Given the description of an element on the screen output the (x, y) to click on. 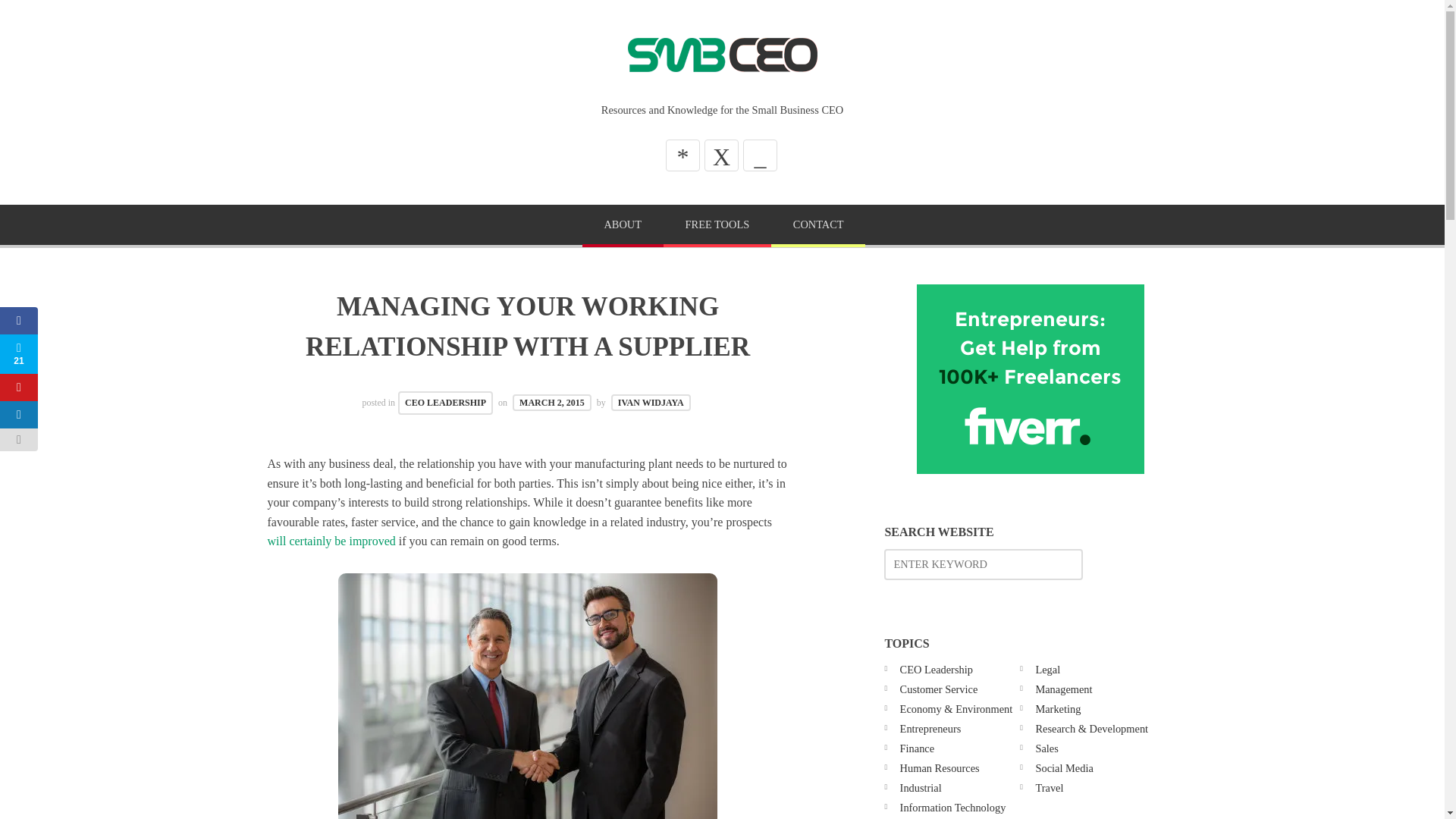
FREE TOOLS (717, 225)
MARCH 2, 2015 (551, 402)
CEO Leadership (935, 669)
8:00 am (551, 402)
ABOUT (622, 225)
CONTACT (817, 225)
X (721, 155)
View all posts by Ivan Widjaya (650, 402)
Search (45, 16)
Customer Service (938, 689)
IVAN WIDJAYA (650, 402)
will certainly be improved (330, 540)
CEO LEADERSHIP (445, 402)
